Given the description of an element on the screen output the (x, y) to click on. 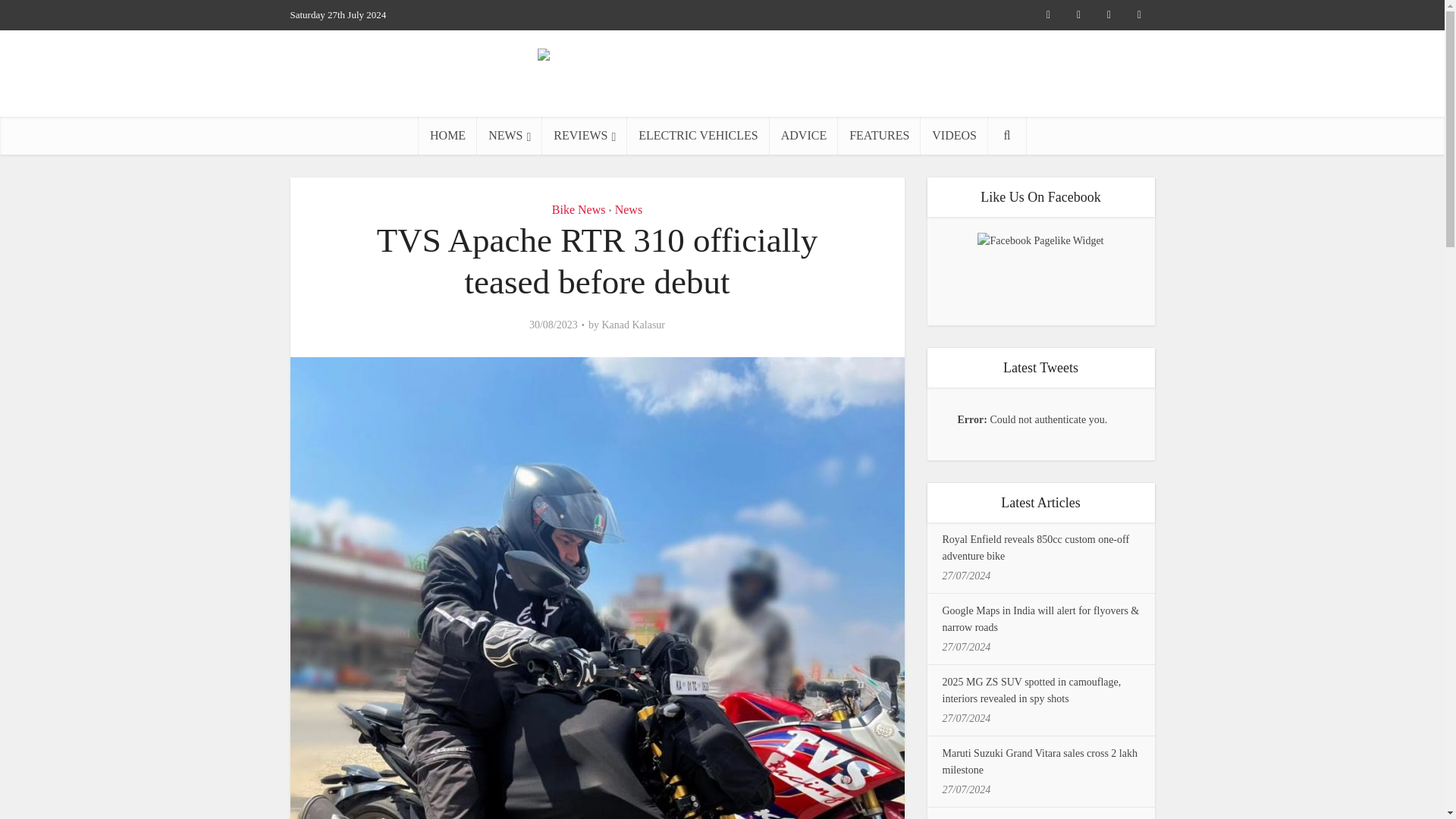
News (628, 209)
Shifting-Gears (722, 74)
Kanad Kalasur (633, 325)
HOME (448, 135)
ELECTRIC VEHICLES (697, 135)
Bike News (578, 209)
Maruti Suzuki Grand Vitara sales cross 2 lakh milestone (1039, 761)
REVIEWS (584, 135)
Royal Enfield reveals 850cc custom one-off adventure bike (1035, 547)
VIDEOS (954, 135)
ADVICE (804, 135)
FEATURES (879, 135)
NEWS (509, 135)
